Given the description of an element on the screen output the (x, y) to click on. 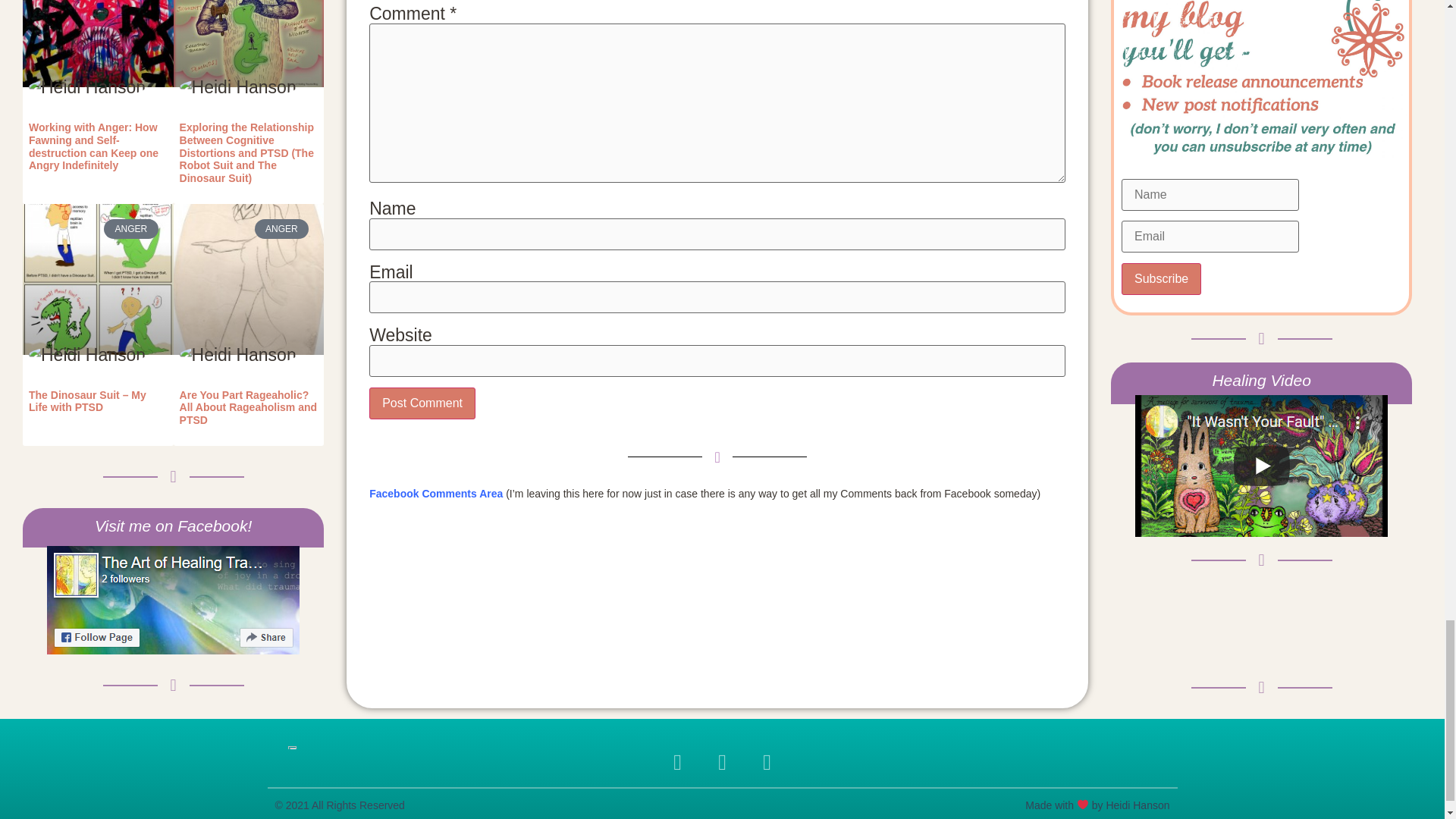
Post Comment (422, 403)
Subscribe (1161, 278)
